Given the description of an element on the screen output the (x, y) to click on. 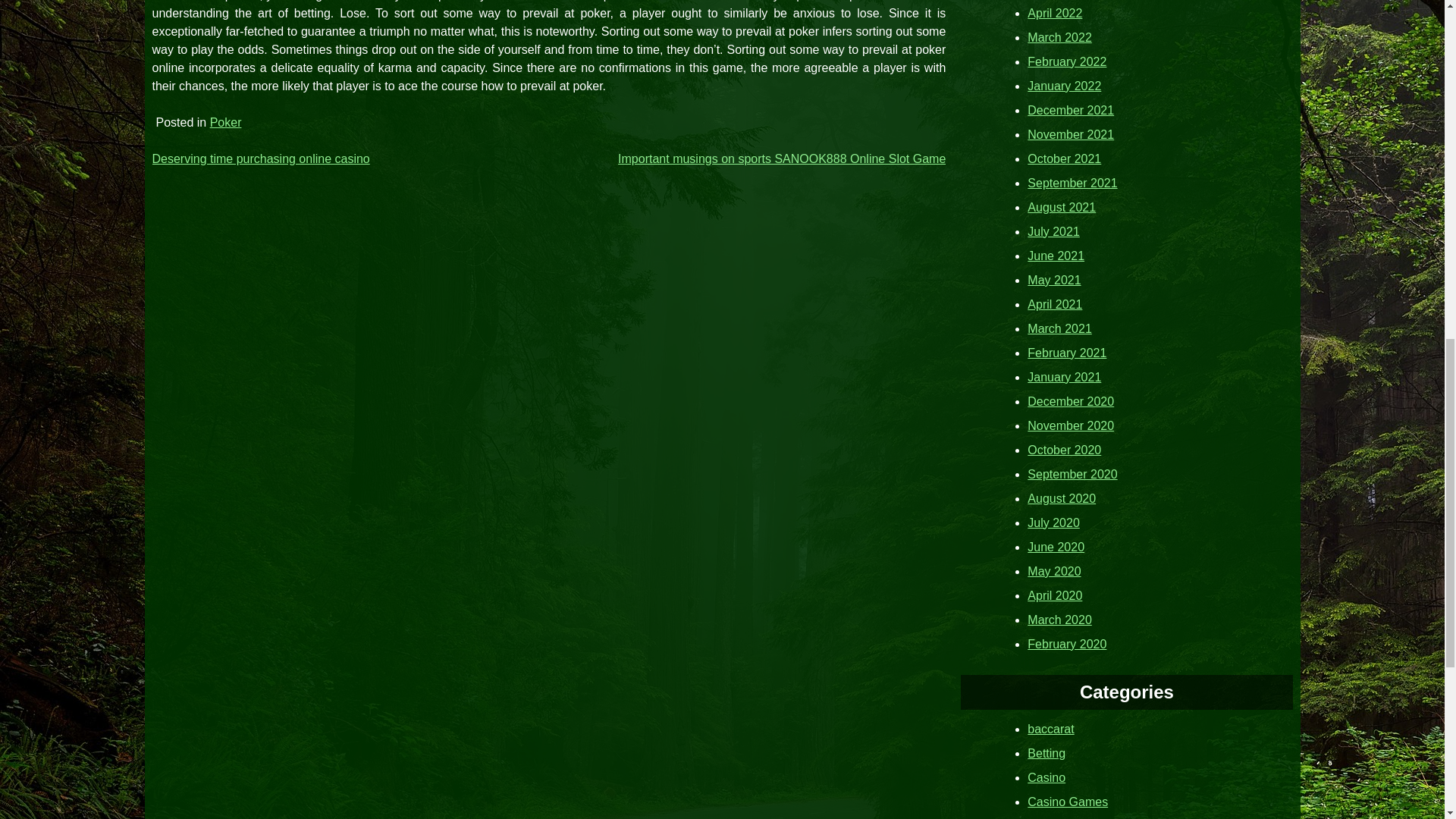
Deserving time purchasing online casino (260, 158)
July 2021 (1053, 230)
September 2021 (1071, 182)
February 2021 (1066, 351)
Important musings on sports SANOOK888 Online Slot Game (780, 158)
May 2021 (1053, 278)
Poker (225, 122)
June 2021 (1055, 254)
December 2021 (1070, 109)
March 2021 (1059, 327)
October 2021 (1063, 157)
March 2022 (1059, 36)
January 2022 (1063, 84)
August 2021 (1061, 205)
February 2022 (1066, 60)
